Given the description of an element on the screen output the (x, y) to click on. 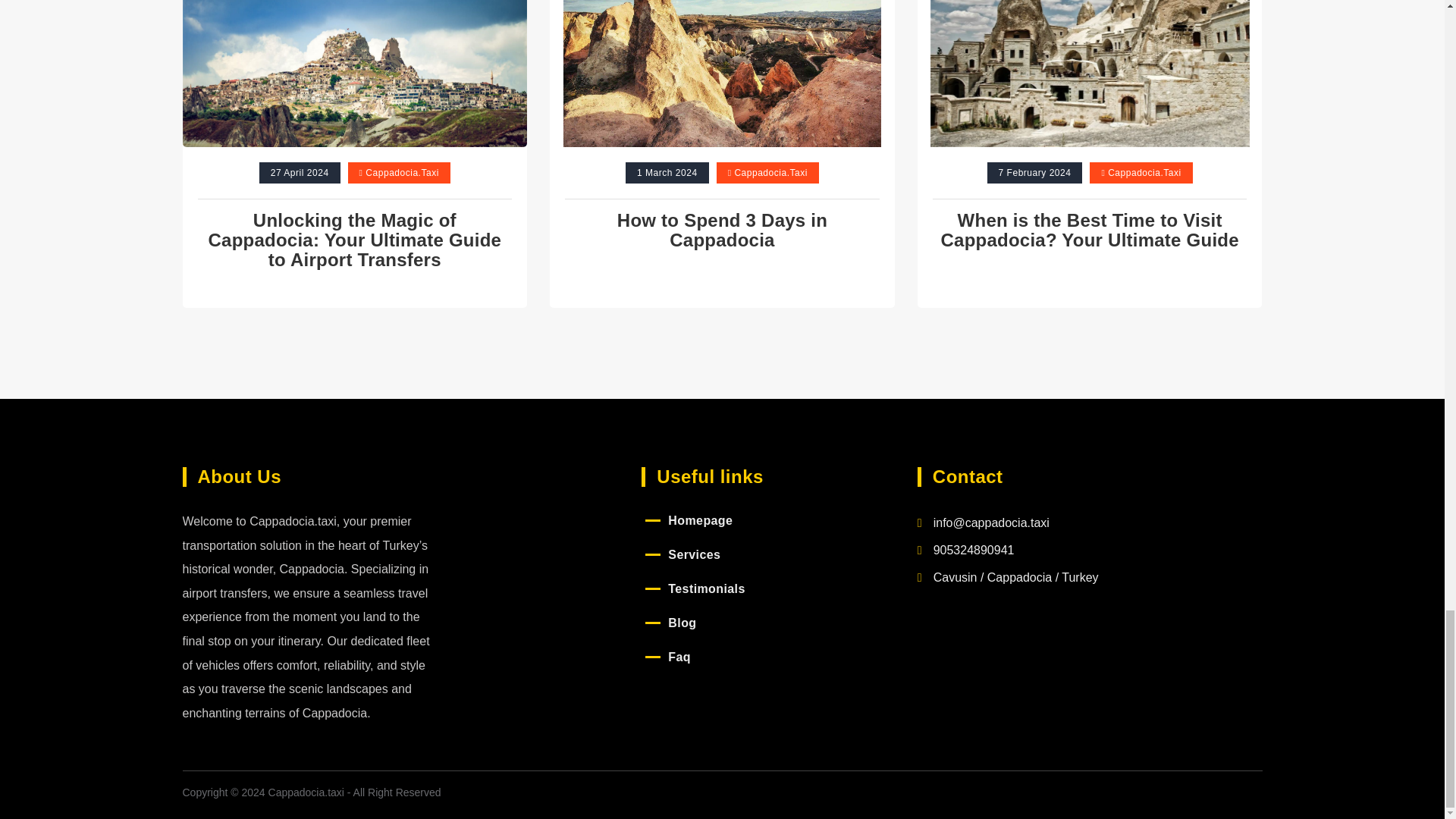
Testimonials (706, 588)
Cappadocia.Taxi (402, 172)
Cappadocia.Taxi (770, 172)
Services (694, 554)
How to Spend 3 Days in Cappadocia (722, 229)
Homepage (700, 520)
Cappadocia.Taxi (1144, 172)
